Given the description of an element on the screen output the (x, y) to click on. 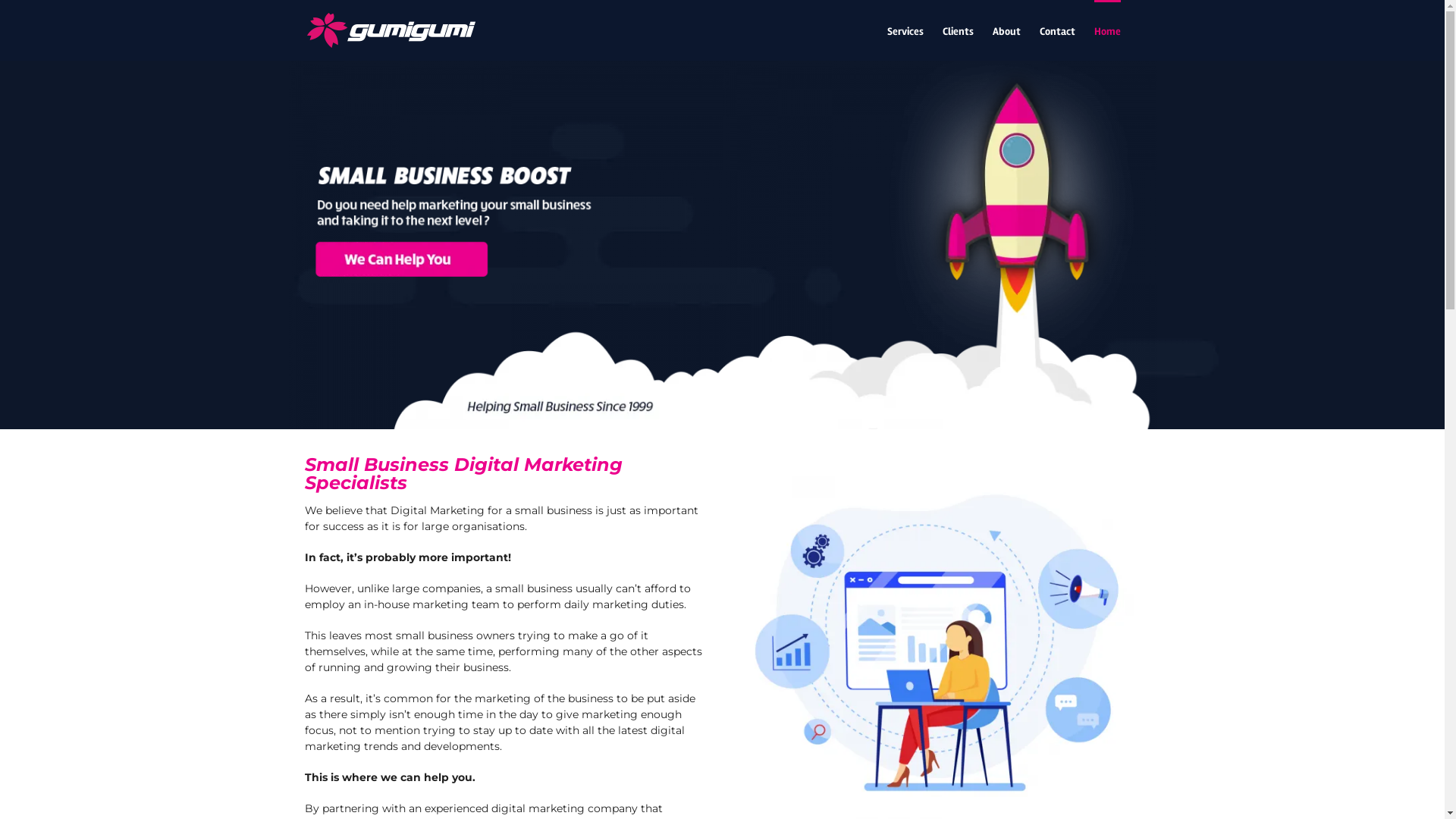
Home Element type: text (1106, 30)
Digital Marketing For Small Business Element type: hover (938, 244)
Clients Element type: text (956, 30)
About Element type: text (1005, 30)
Services Element type: text (905, 30)
Contact Element type: text (1056, 30)
